Given the description of an element on the screen output the (x, y) to click on. 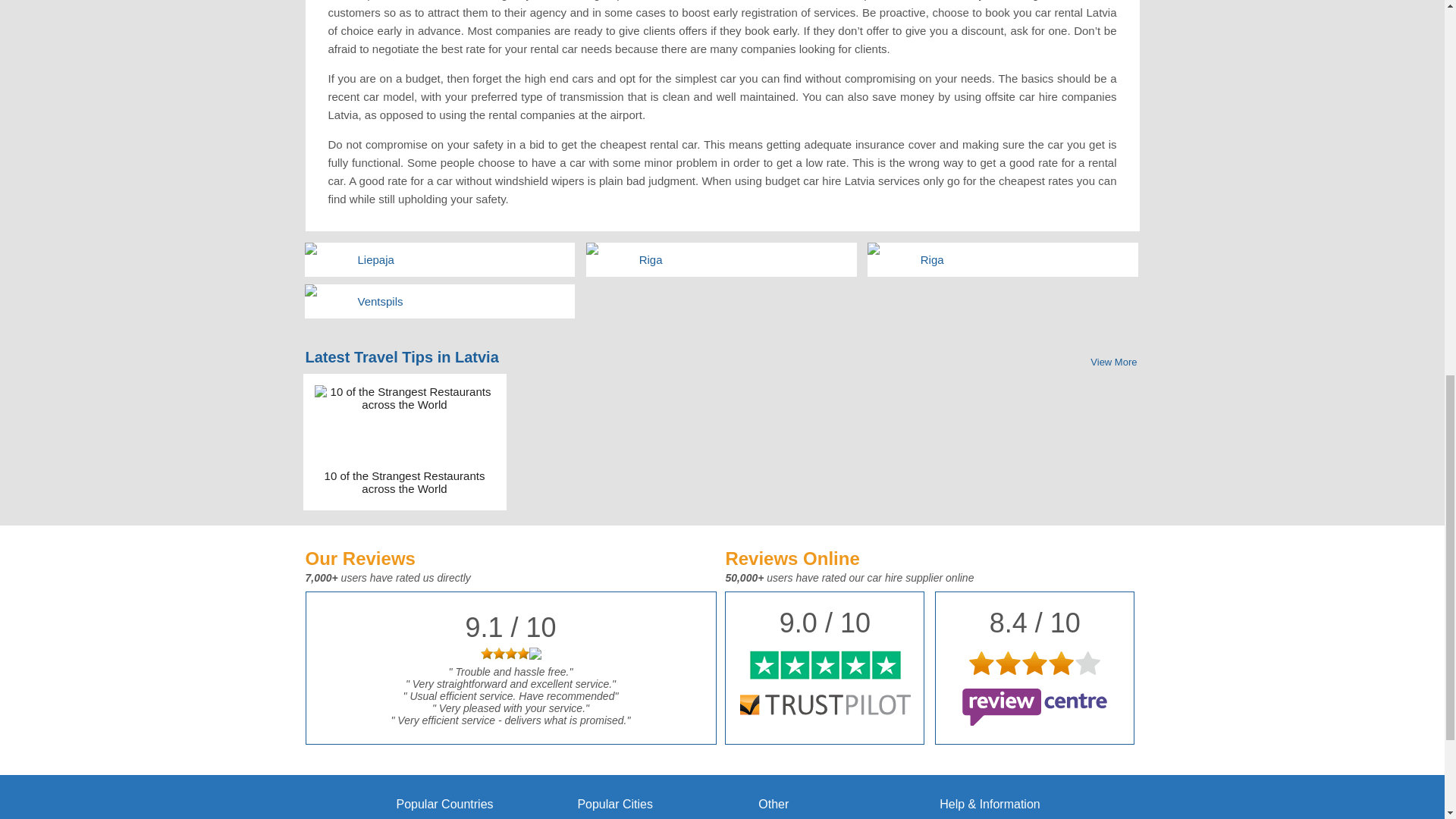
Liepaja (462, 259)
Ventspils (462, 301)
View More (1113, 361)
Riga (744, 259)
10 of the Strangest Restaurants across the World (404, 482)
Riga (1025, 259)
